Given the description of an element on the screen output the (x, y) to click on. 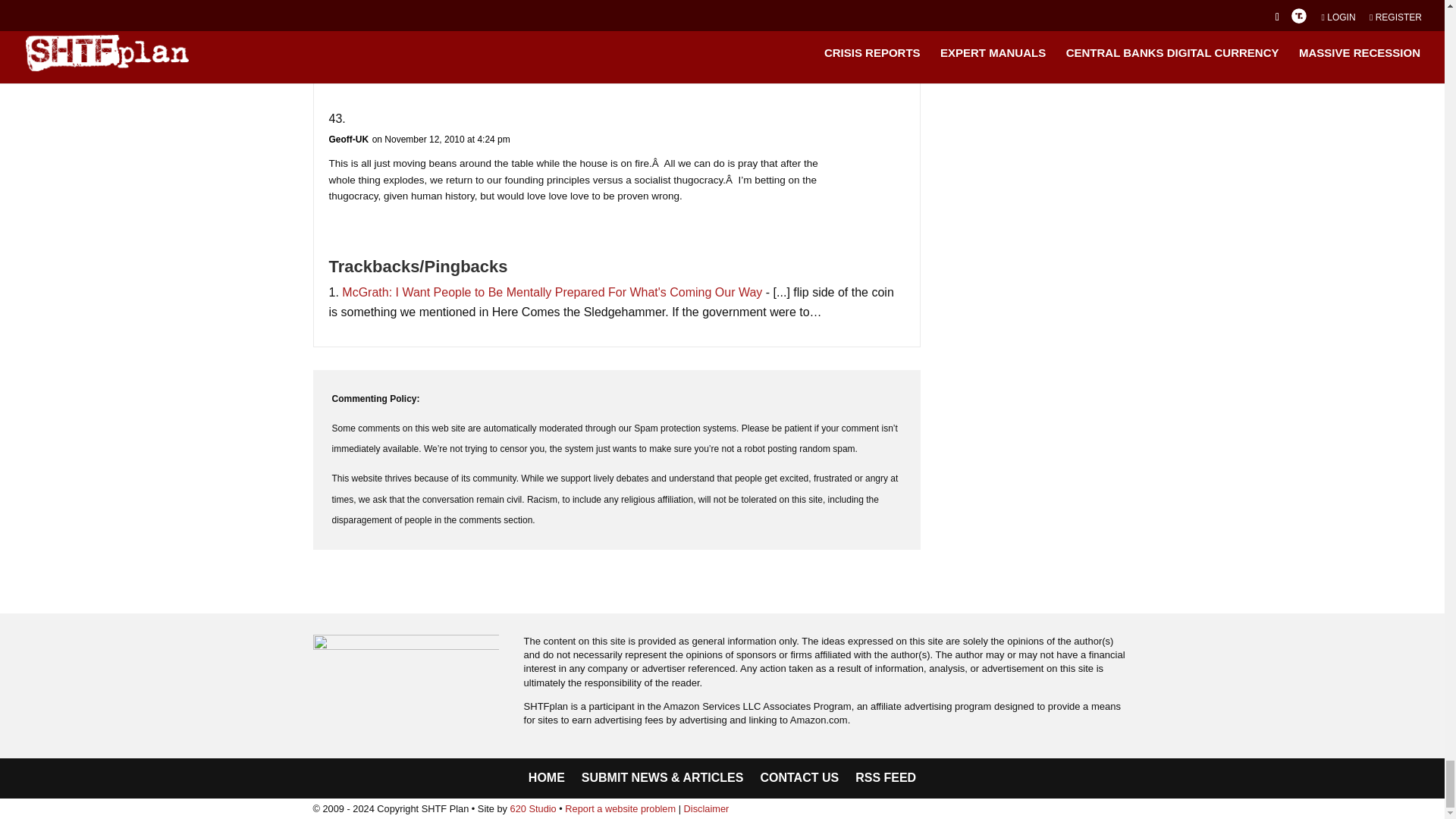
SFP-logo (406, 654)
